Given the description of an element on the screen output the (x, y) to click on. 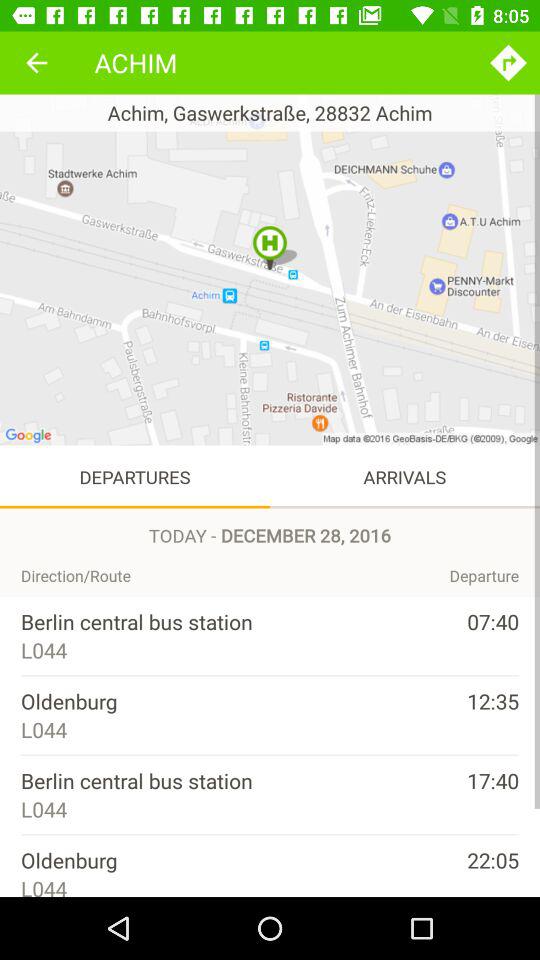
select the icon at the top right corner (508, 62)
